Given the description of an element on the screen output the (x, y) to click on. 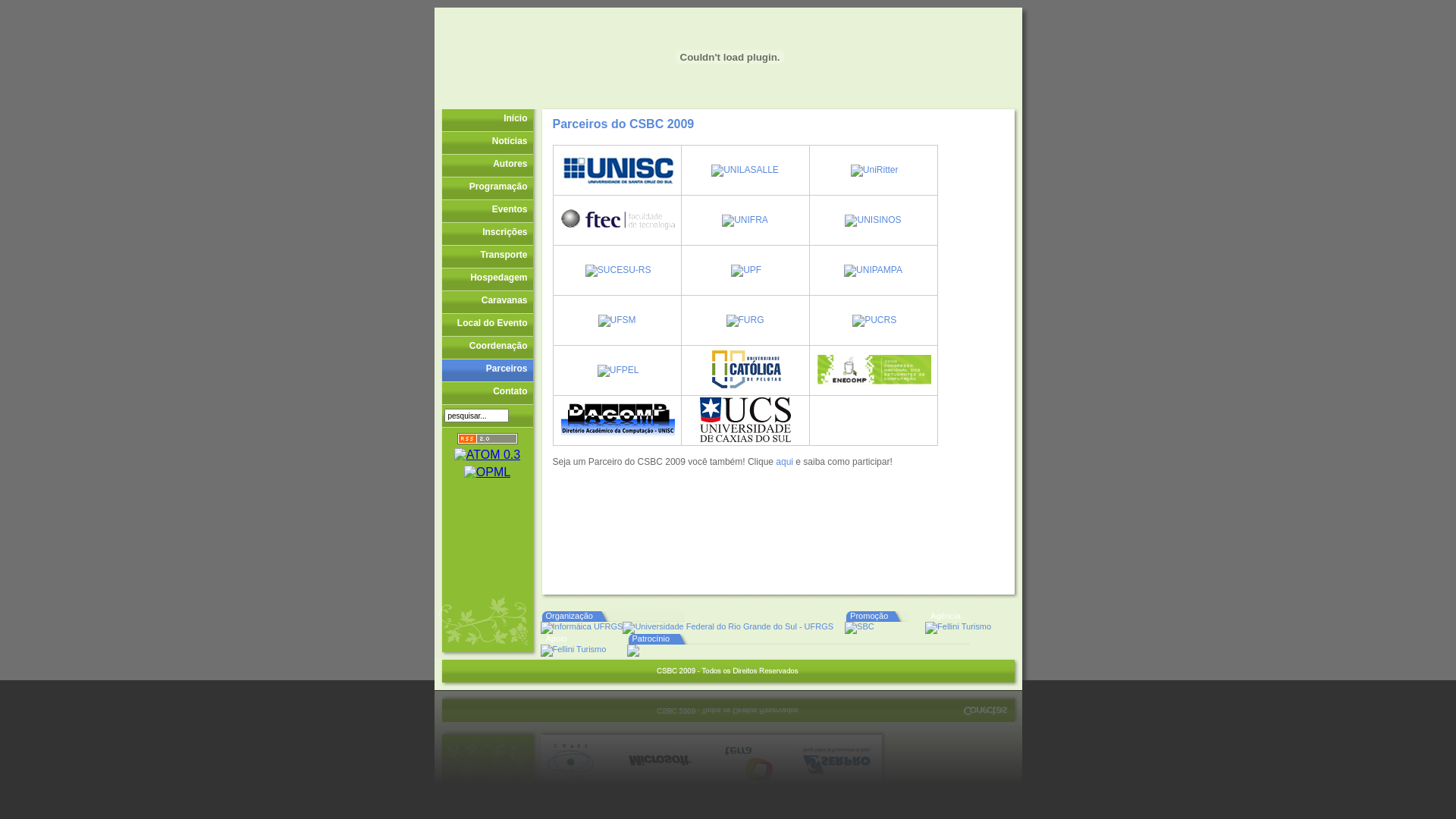
Local do Evento Element type: text (486, 324)
Autores Element type: text (486, 165)
Hospedagem Element type: text (486, 279)
_ Element type: text (517, 416)
Parceiros Element type: text (486, 370)
aqui Element type: text (784, 461)
Eventos Element type: text (486, 211)
Contato Element type: text (486, 393)
Caravanas Element type: text (486, 302)
Conectas Element type: text (984, 669)
Transporte Element type: text (486, 256)
